Given the description of an element on the screen output the (x, y) to click on. 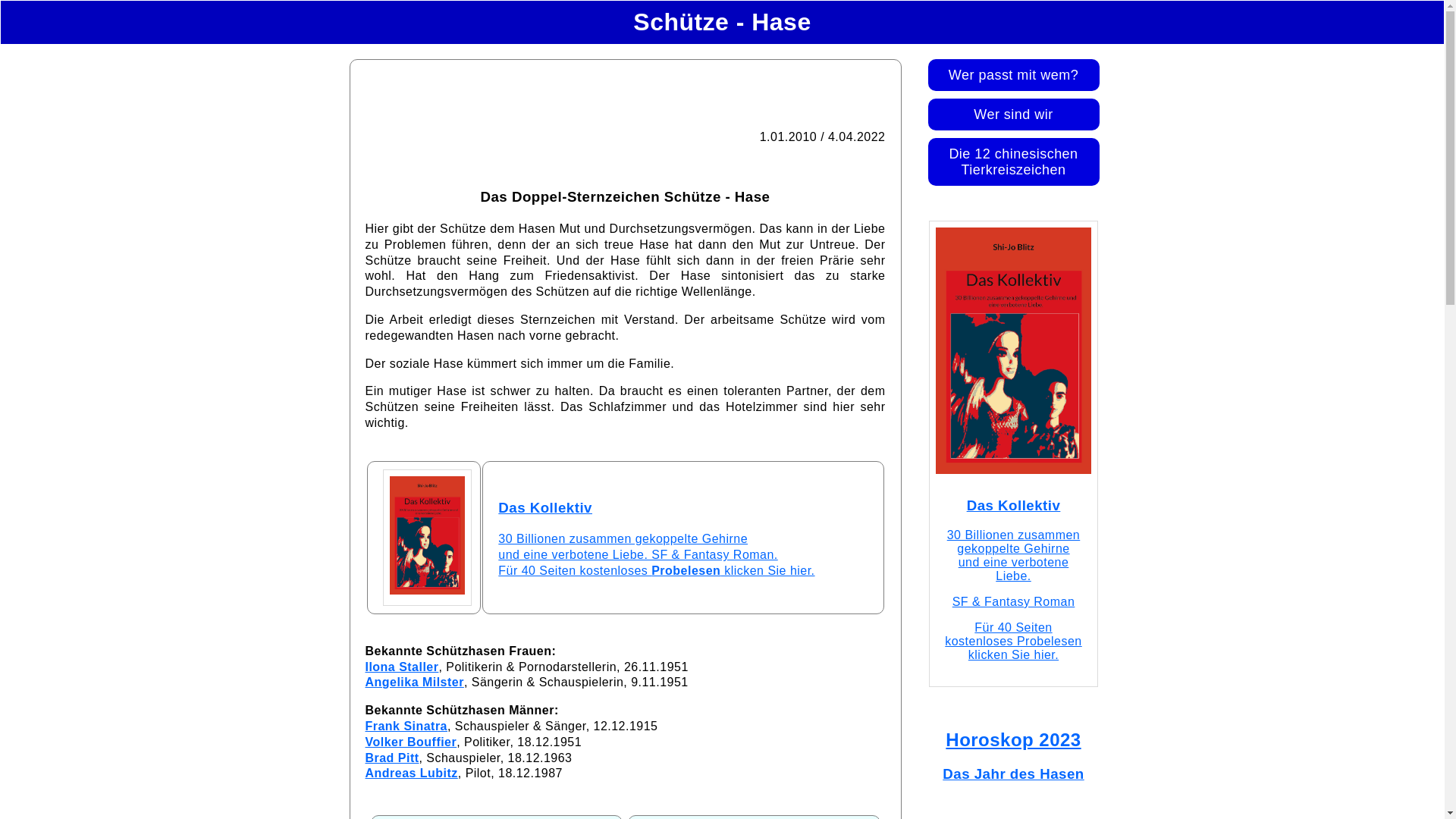
Frank Sinatra Element type: text (406, 725)
Volker Bouffier Element type: text (411, 741)
Horoskop 2023
Das Jahr des Hasen Element type: text (1013, 769)
Brad Pitt Element type: text (392, 757)
Die 12 chinesischen Tierkreiszeichen Element type: text (1013, 161)
Ilona Staller Element type: text (402, 666)
Andreas Lubitz Element type: text (411, 772)
Wer sind wir Element type: text (1013, 114)
Angelika Milster Element type: text (414, 681)
Advertisement Element type: hover (624, 89)
Wer passt mit wem? Element type: text (1013, 75)
